Given the description of an element on the screen output the (x, y) to click on. 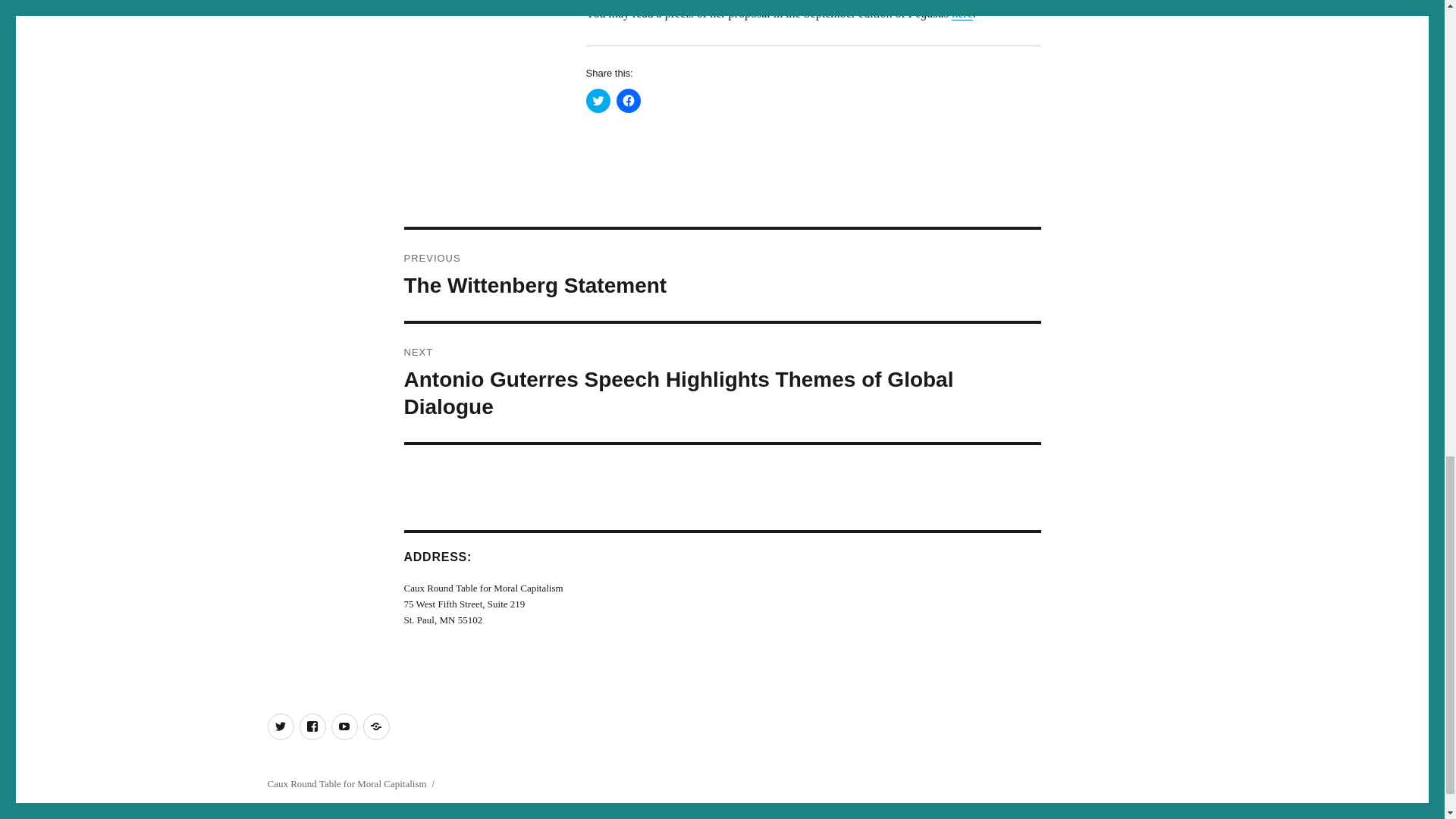
here (962, 12)
Caux Round Table for Moral Capitalism (346, 783)
Facebook (311, 726)
YouTube (722, 275)
Substack (343, 726)
Twitter (375, 726)
Click to share on Facebook (280, 726)
Click to share on Twitter (627, 100)
